Given the description of an element on the screen output the (x, y) to click on. 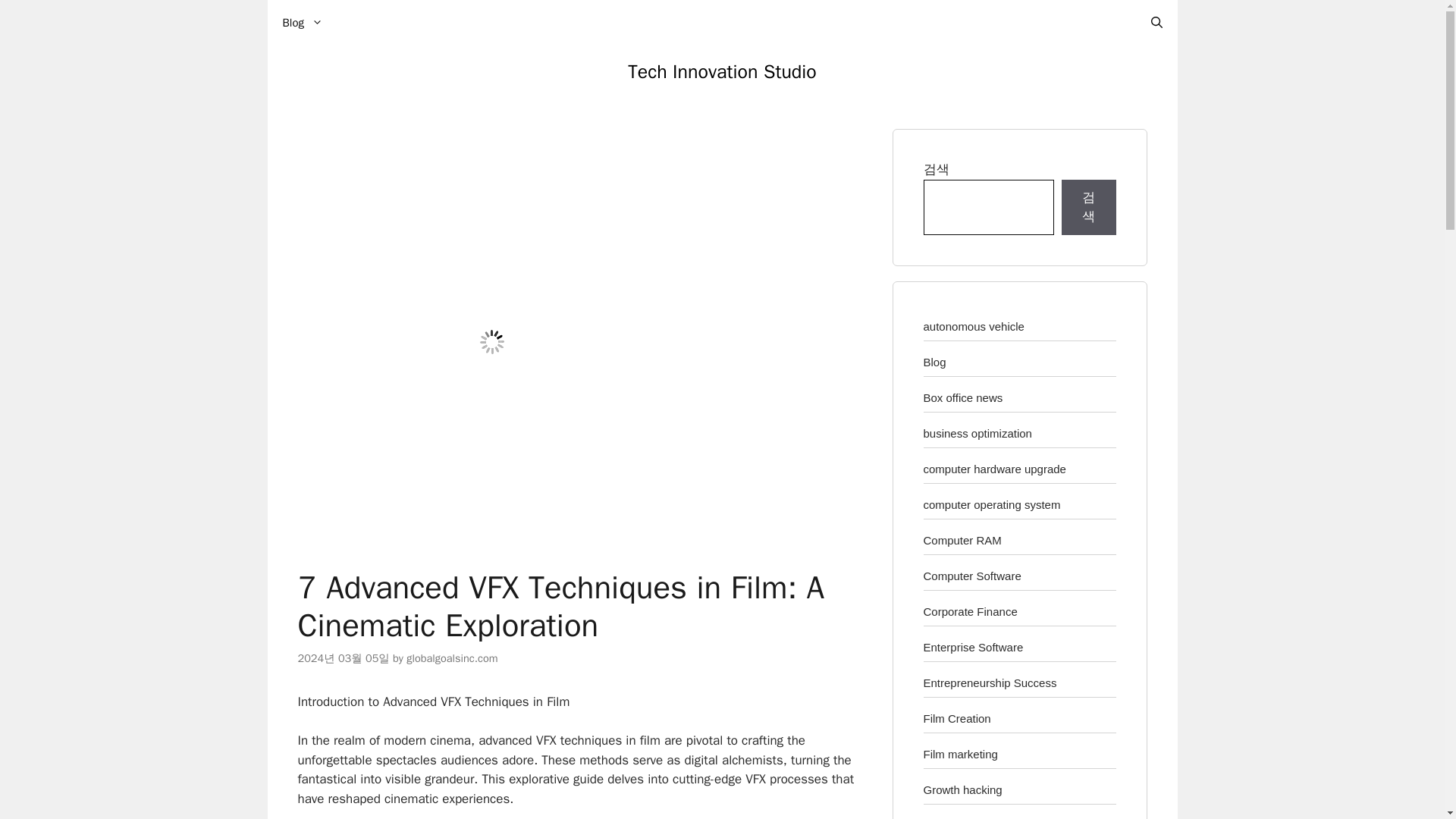
Growth hacking (963, 788)
Entrepreneurship Success (990, 682)
autonomous vehicle (974, 326)
computer operating system (992, 503)
Film Creation (957, 717)
Blog (934, 360)
Blog (301, 22)
Corporate Finance (970, 611)
Computer Software (972, 574)
computer hardware upgrade (994, 468)
Box office news (963, 397)
Enterprise Software (973, 645)
View all posts by globalgoalsinc.com (451, 657)
Film marketing (960, 753)
globalgoalsinc.com (451, 657)
